Given the description of an element on the screen output the (x, y) to click on. 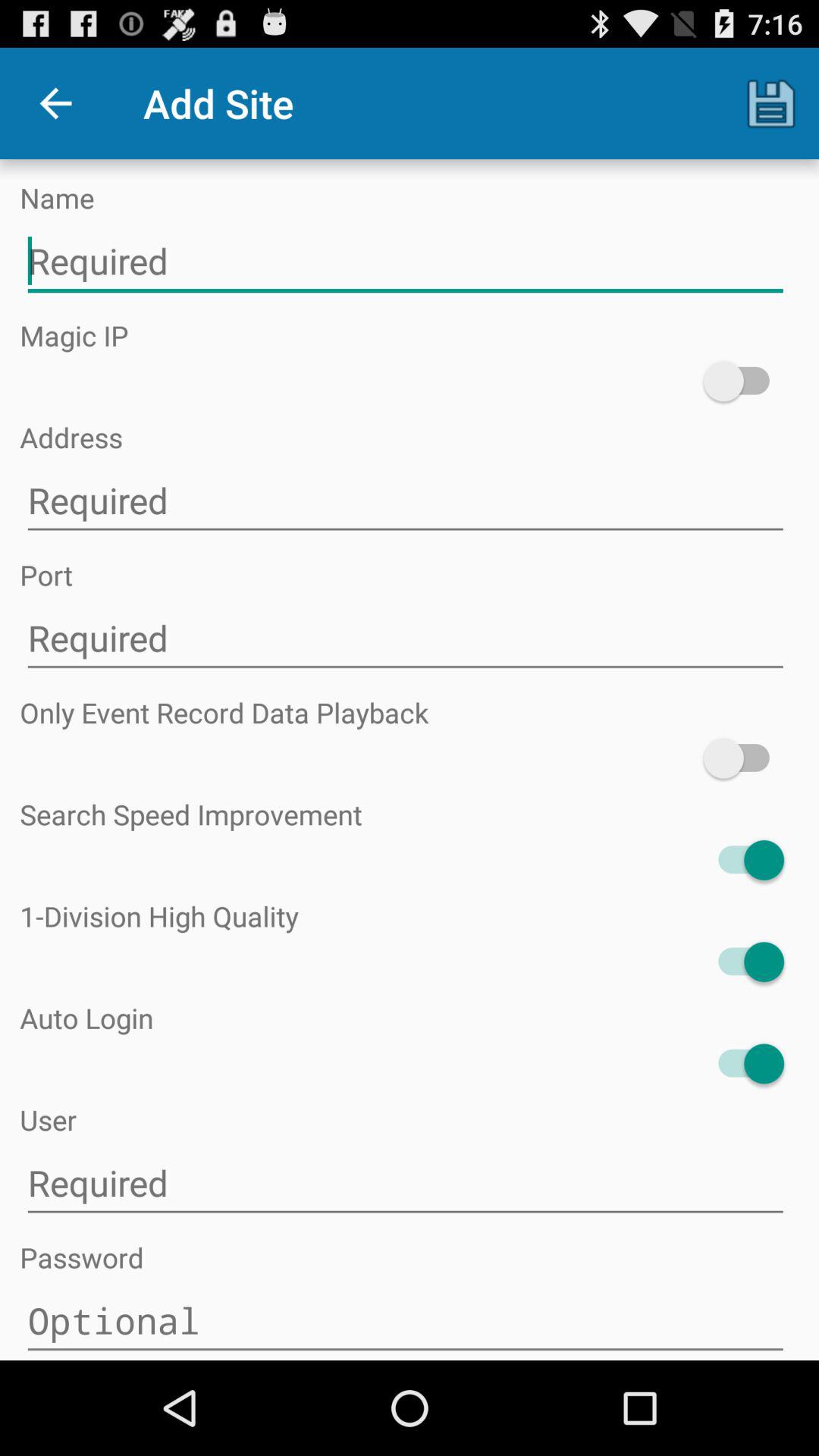
select search button (743, 860)
